Given the description of an element on the screen output the (x, y) to click on. 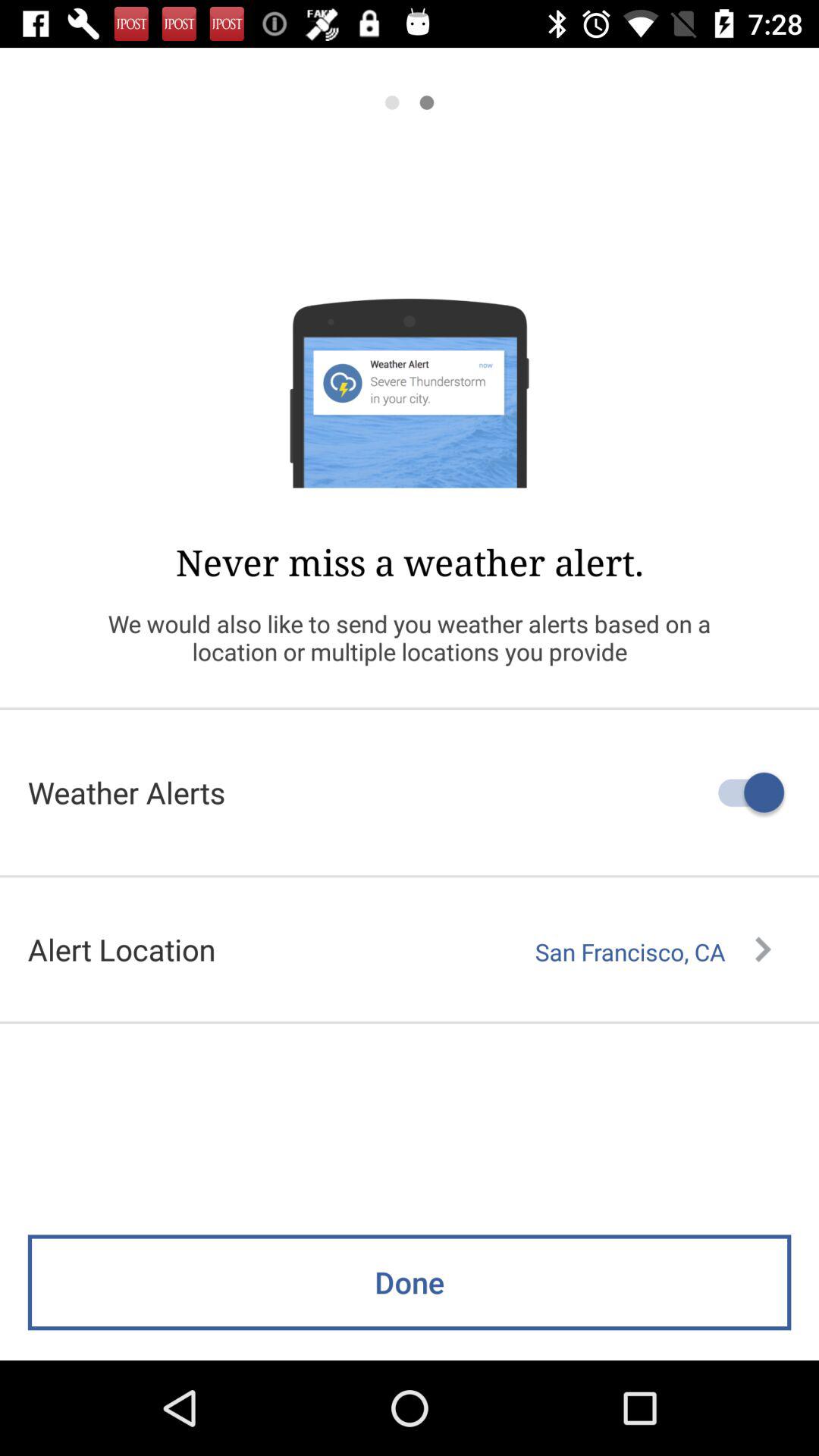
click done (409, 1282)
